Given the description of an element on the screen output the (x, y) to click on. 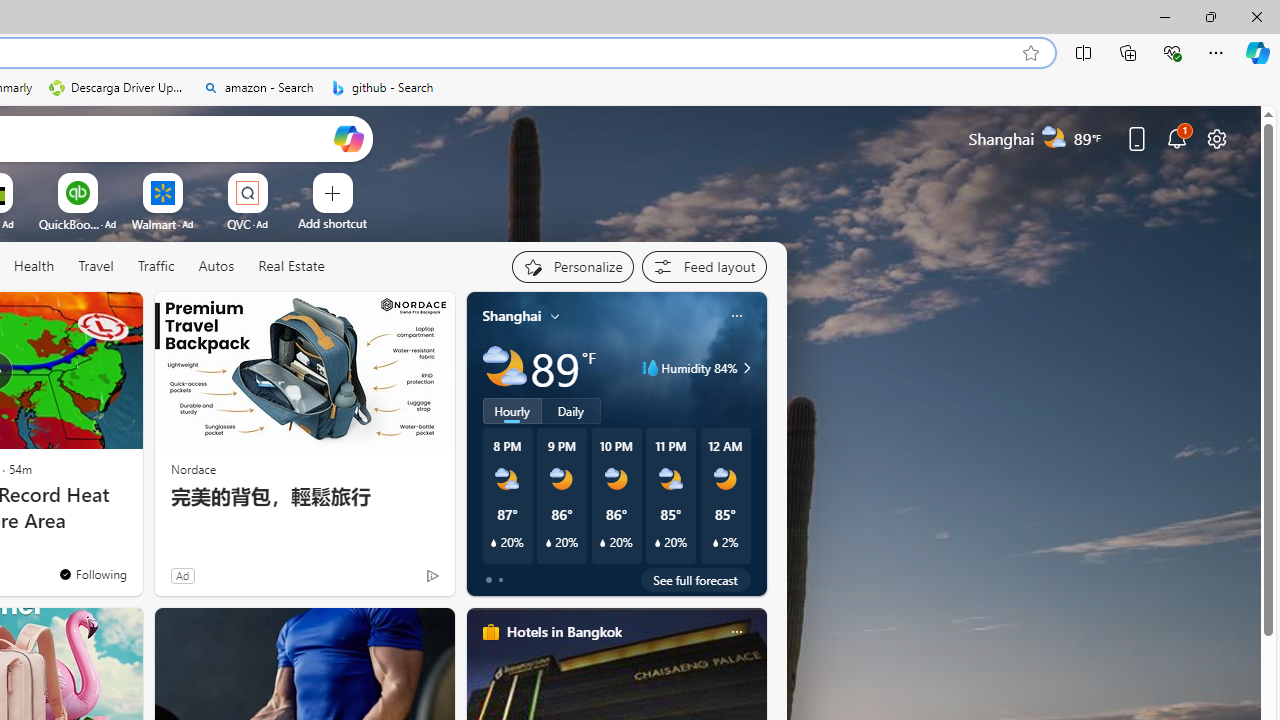
Class: icon-img (736, 632)
github - Search (381, 88)
Open Copilot (347, 138)
Hourly (511, 411)
Real Estate (290, 267)
Descarga Driver Updater (118, 88)
hotels-header-icon (490, 632)
More Options (279, 179)
tab-1 (500, 579)
